Given the description of an element on the screen output the (x, y) to click on. 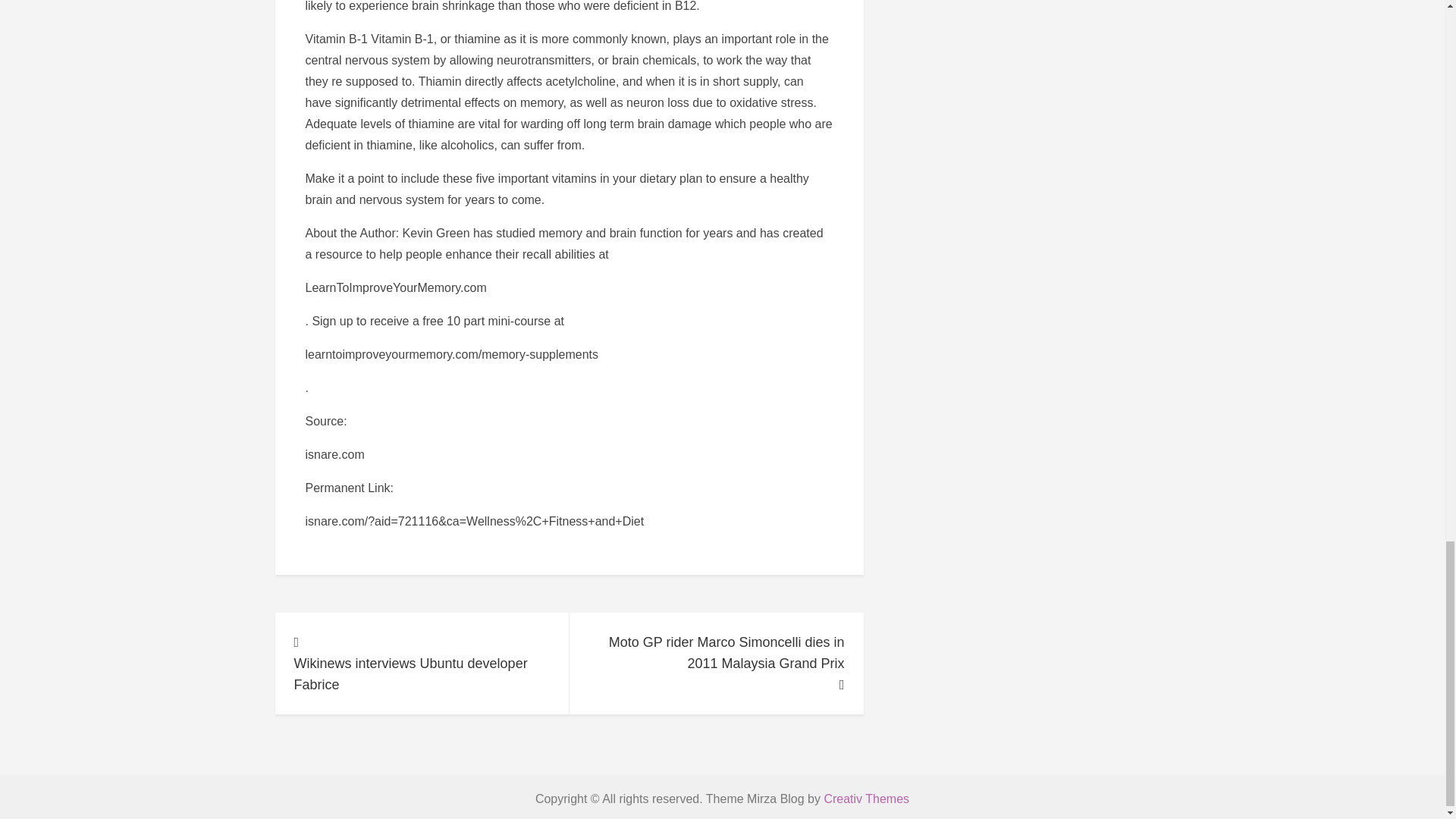
Creativ Themes (866, 798)
Wikinews interviews Ubuntu developer Fabrice (422, 663)
